Given the description of an element on the screen output the (x, y) to click on. 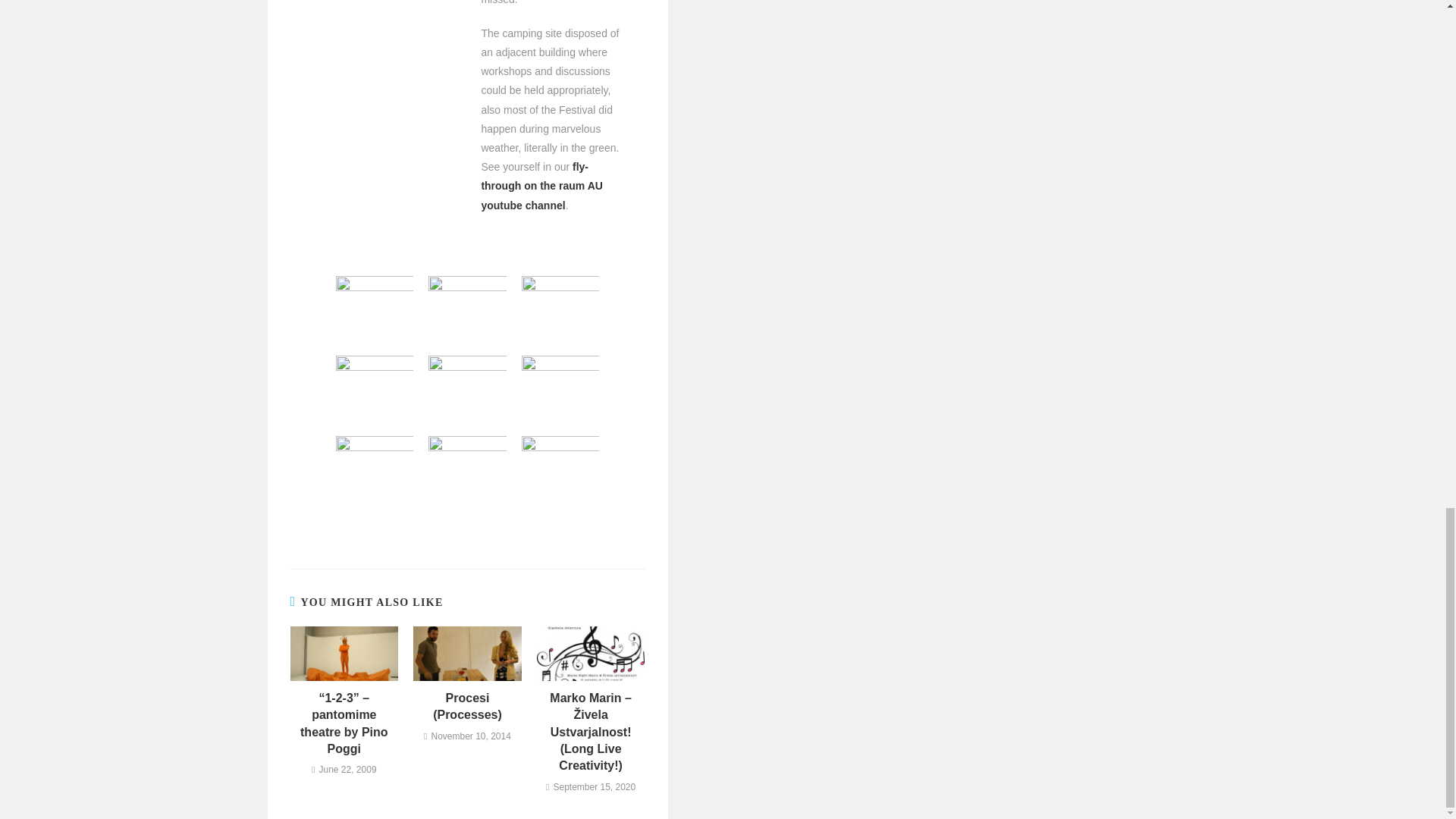
fly-through on the raum AU youtube channel (541, 185)
